Given the description of an element on the screen output the (x, y) to click on. 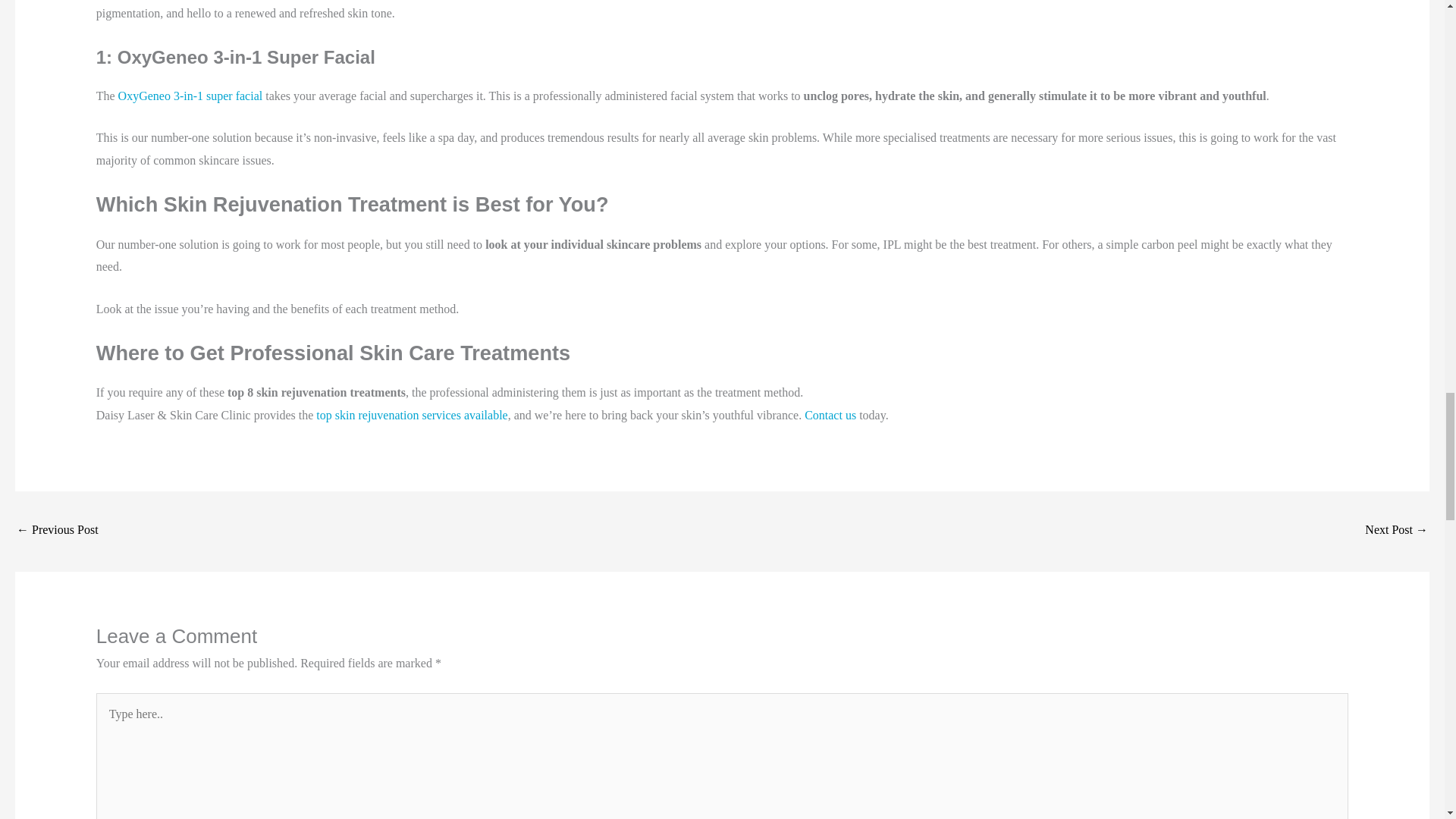
Contact us (830, 414)
Benefits of Micro-Needling: Process and Aftercare Explained (1396, 530)
OxyGeneo 3-in-1 super facial (190, 95)
top skin rejuvenation services available (410, 414)
